Given the description of an element on the screen output the (x, y) to click on. 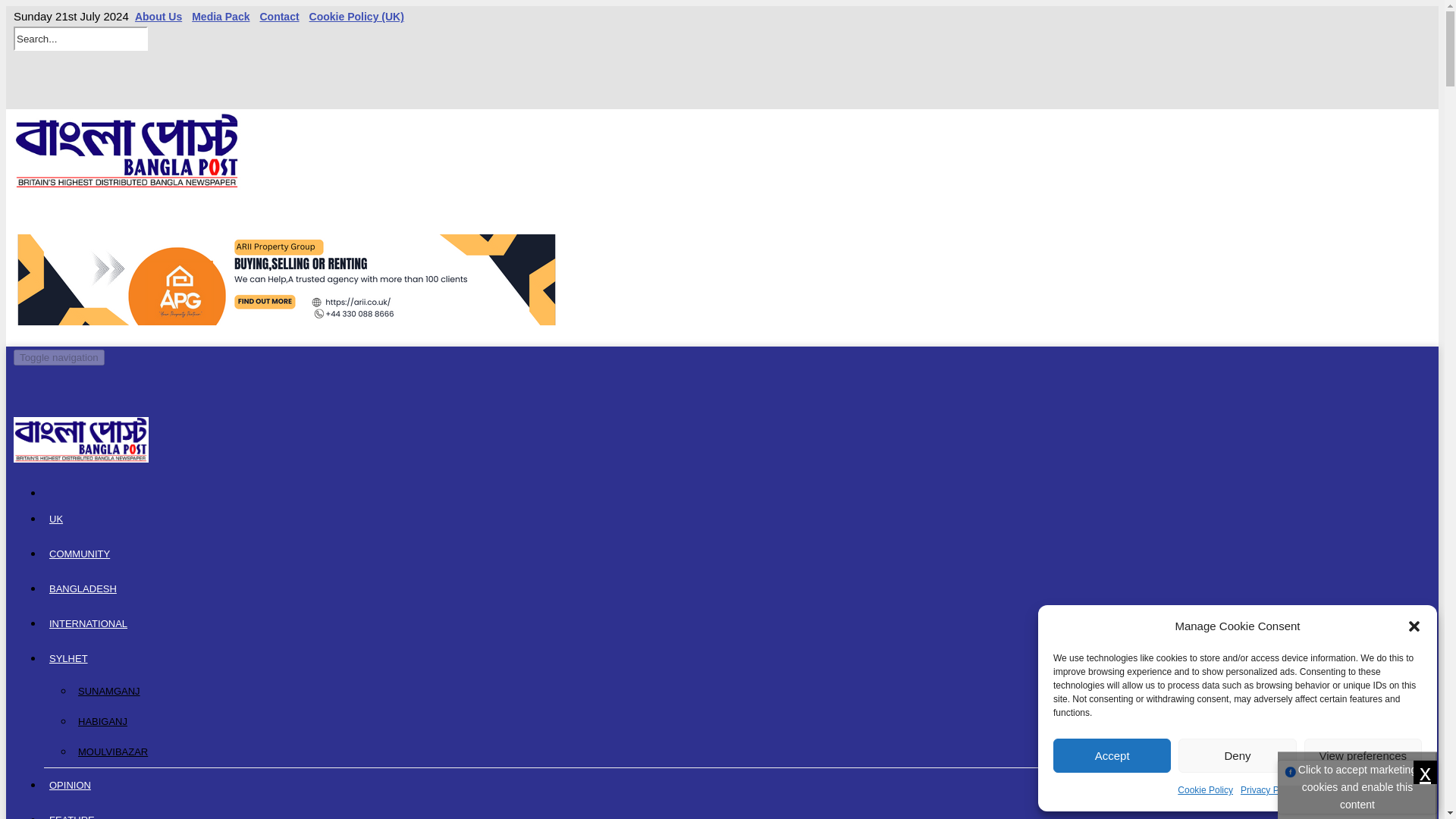
COMMUNITY (79, 554)
HABIGANJ (752, 721)
INTERNATIONAL (87, 623)
View preferences (1363, 755)
Accept (1111, 755)
Cookie Policy (1205, 790)
About Us (158, 16)
FEATURE (71, 811)
Media Pack (220, 16)
SYLHET (68, 658)
Toggle navigation (58, 357)
Privacy Policy (1268, 790)
SUNAMGANJ (752, 691)
OPINION (69, 785)
Contact (278, 16)
